Given the description of an element on the screen output the (x, y) to click on. 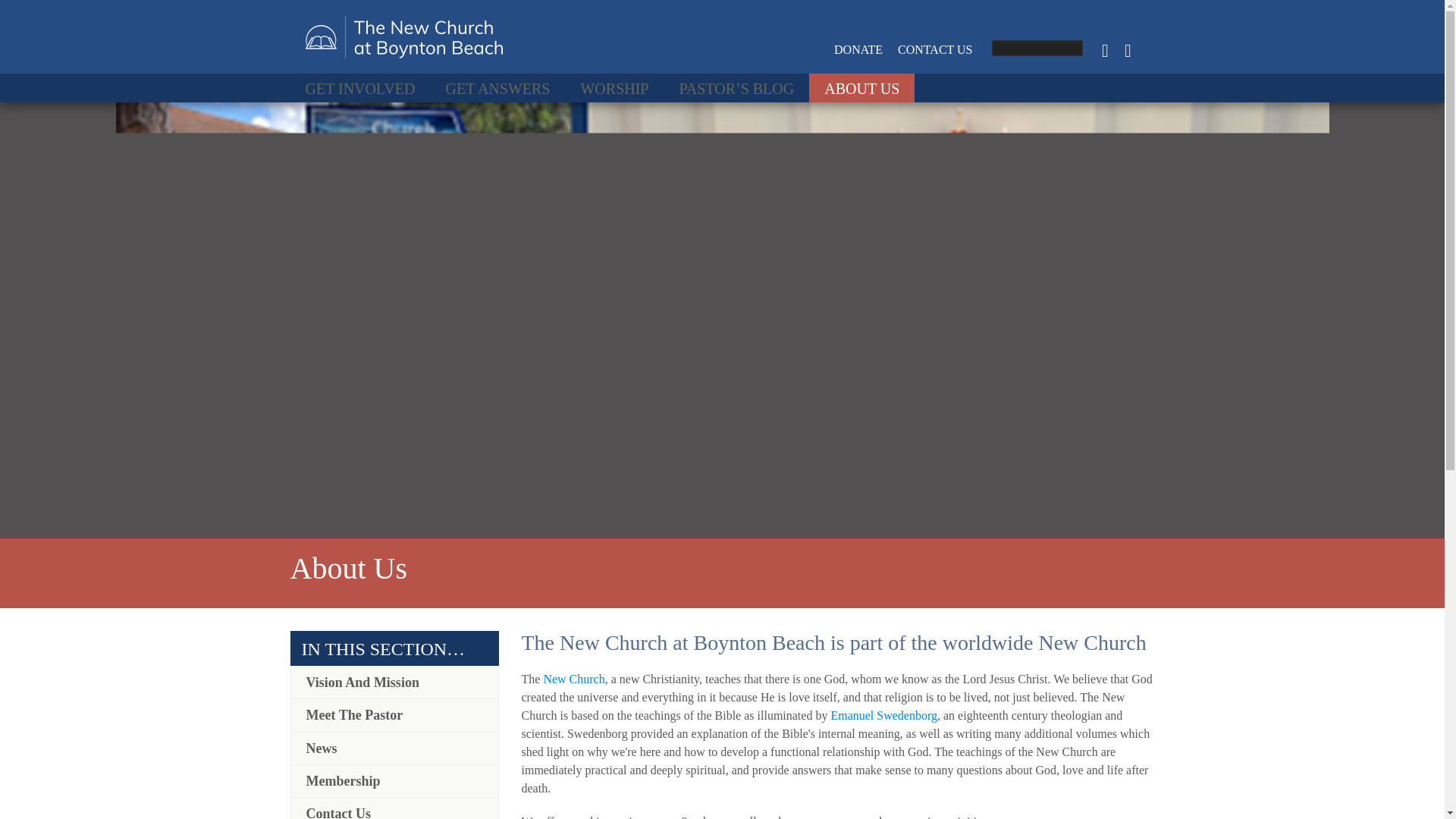
GET ANSWERS (498, 87)
CONTACT US (935, 49)
Vision And Mission (394, 682)
WORSHIP (613, 87)
GET INVOLVED (359, 87)
ABOUT US (861, 87)
Emanuel Swedenborg (883, 715)
Search (42, 15)
Meet The Pastor (394, 715)
News (394, 748)
